Given the description of an element on the screen output the (x, y) to click on. 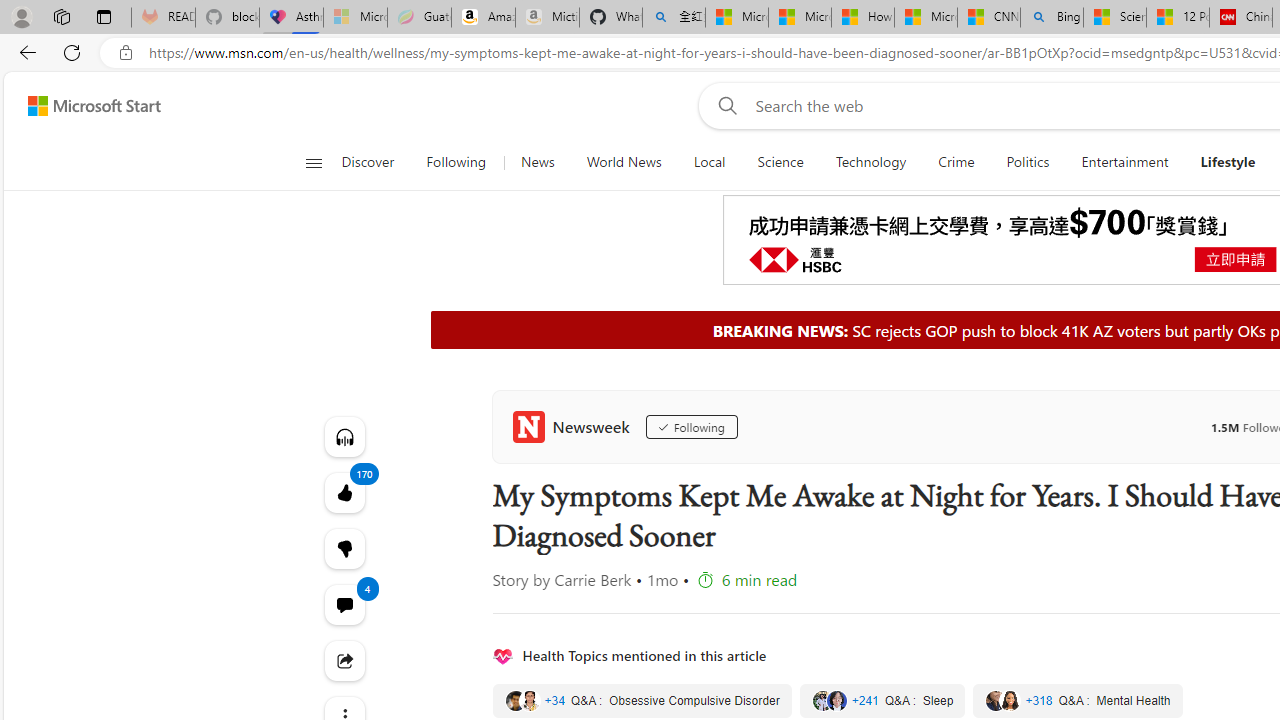
Listen to this article (343, 436)
